Given the description of an element on the screen output the (x, y) to click on. 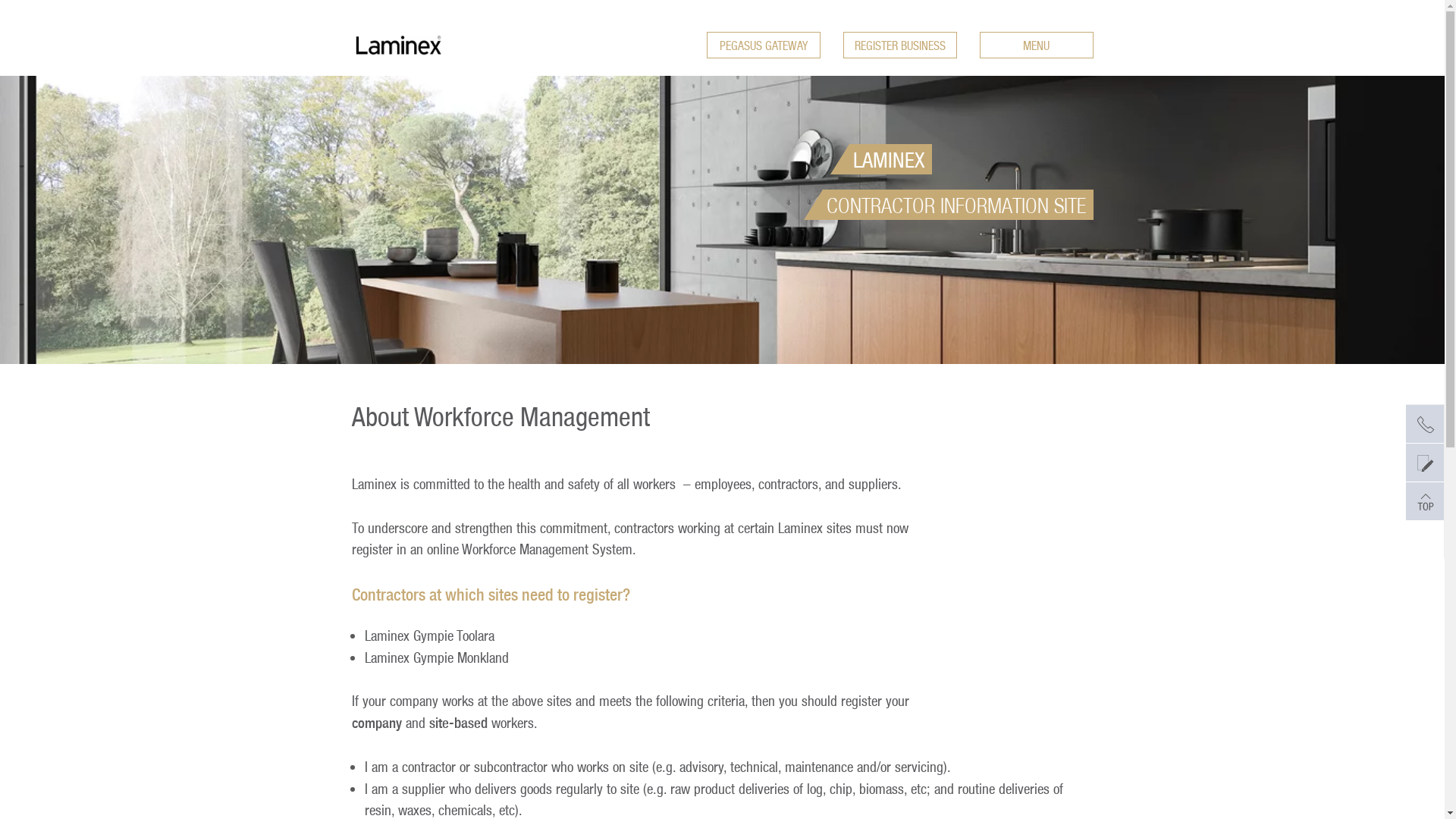
MENU Element type: text (1036, 44)
PEGASUS GATEWAY Element type: text (763, 44)
REGISTER BUSINESS Element type: text (900, 44)
